Given the description of an element on the screen output the (x, y) to click on. 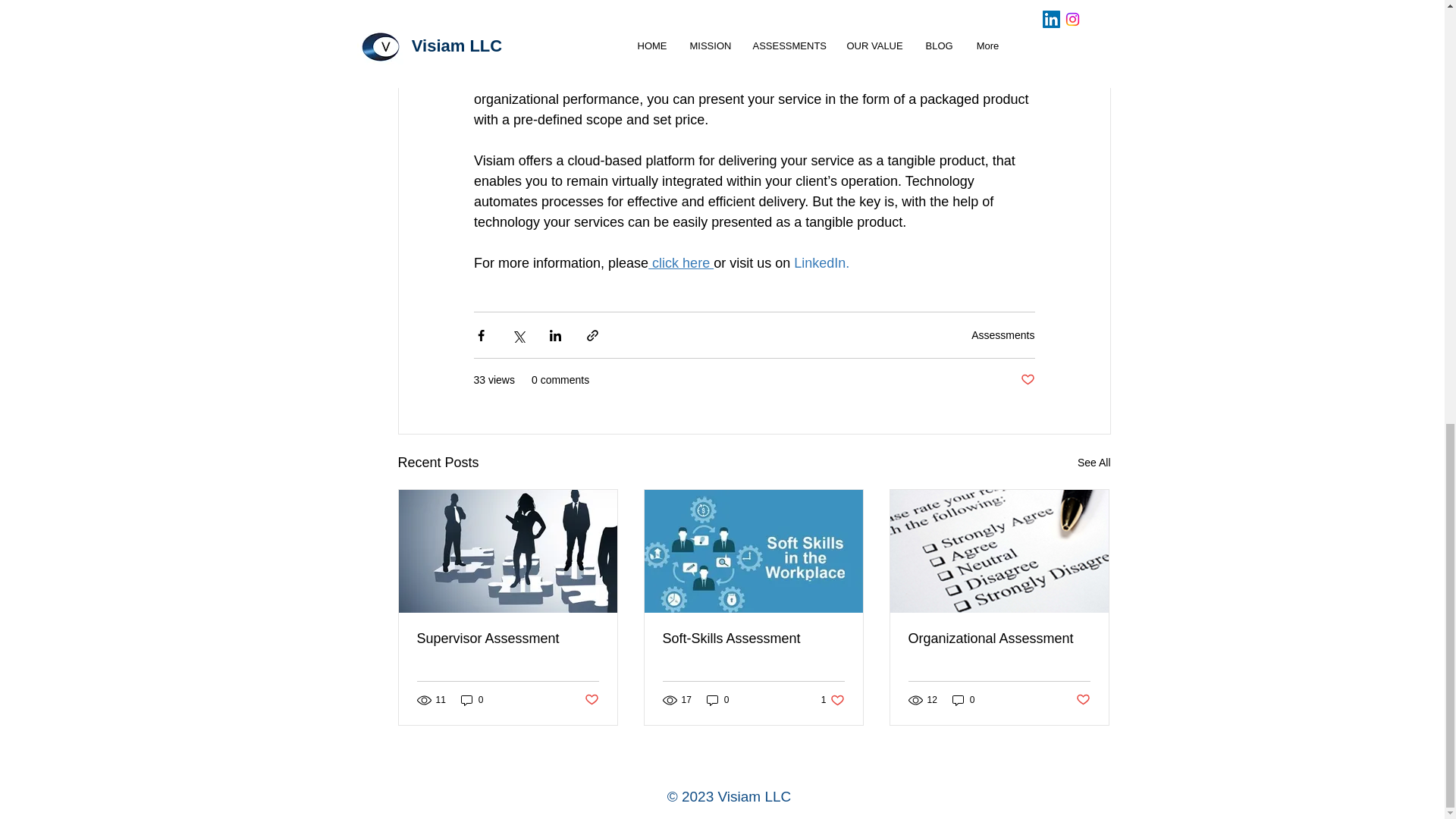
 click here  (680, 263)
See All (1093, 463)
LinkedIn. (820, 263)
Supervisor Assessment (507, 638)
Assessments (1002, 334)
0 (717, 699)
Organizational Assessment (999, 638)
Soft-Skills Assessment (753, 638)
Post not marked as liked (1082, 700)
0 (963, 699)
